Given the description of an element on the screen output the (x, y) to click on. 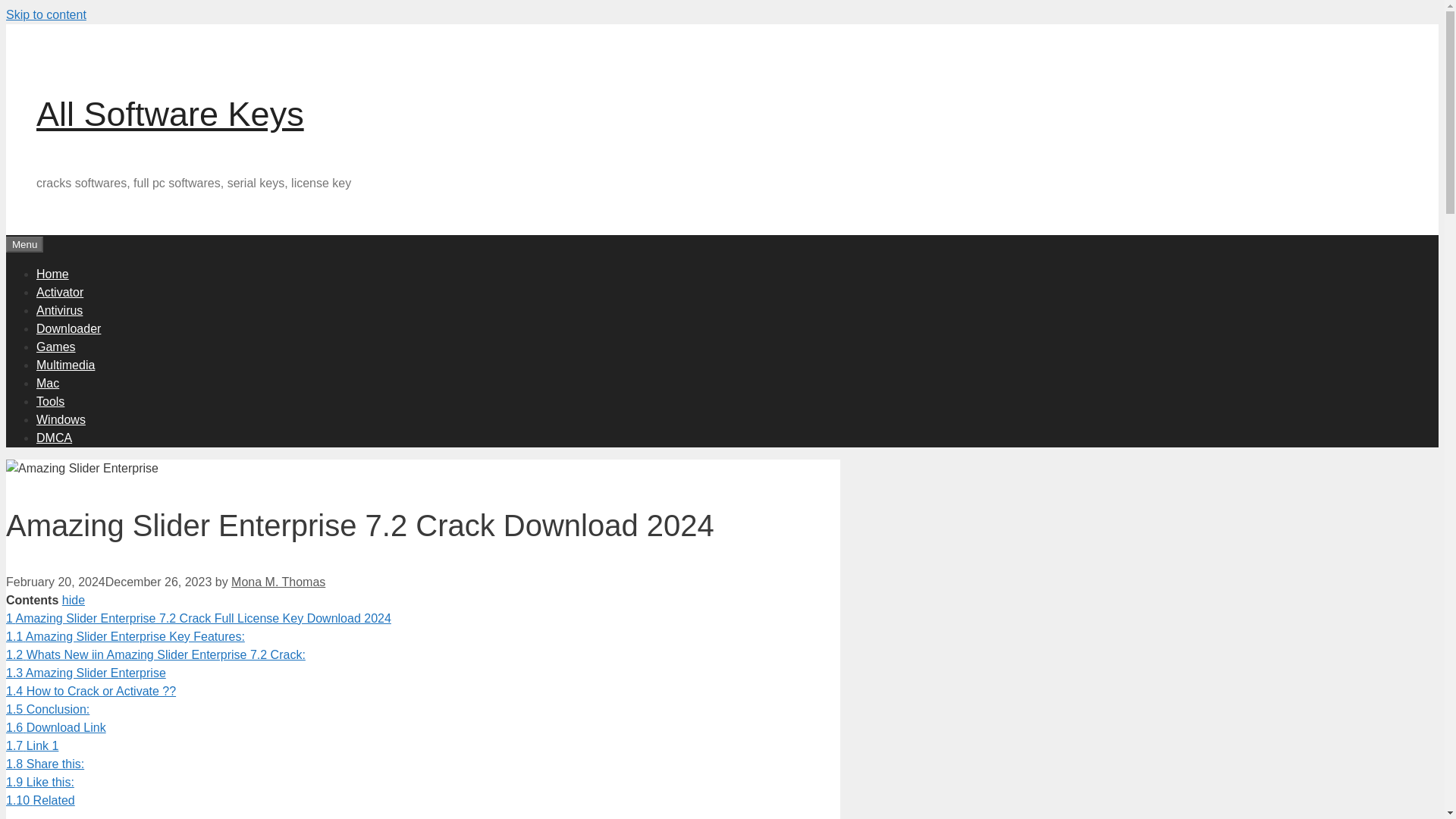
1.4 How to Crack or Activate ?? (90, 690)
1.1 Amazing Slider Enterprise Key Features: (124, 635)
1.8 Share this: (44, 763)
1.3 Amazing Slider Enterprise (85, 672)
Mac (47, 382)
1.7 Link 1 (31, 745)
Skip to content (45, 14)
Home (52, 273)
1.10 Related (40, 799)
DMCA (53, 436)
hide (73, 599)
Multimedia (65, 364)
1.6 Download Link (55, 727)
Games (55, 345)
1.2 Whats New iin Amazing Slider Enterprise 7.2 Crack: (155, 654)
